Given the description of an element on the screen output the (x, y) to click on. 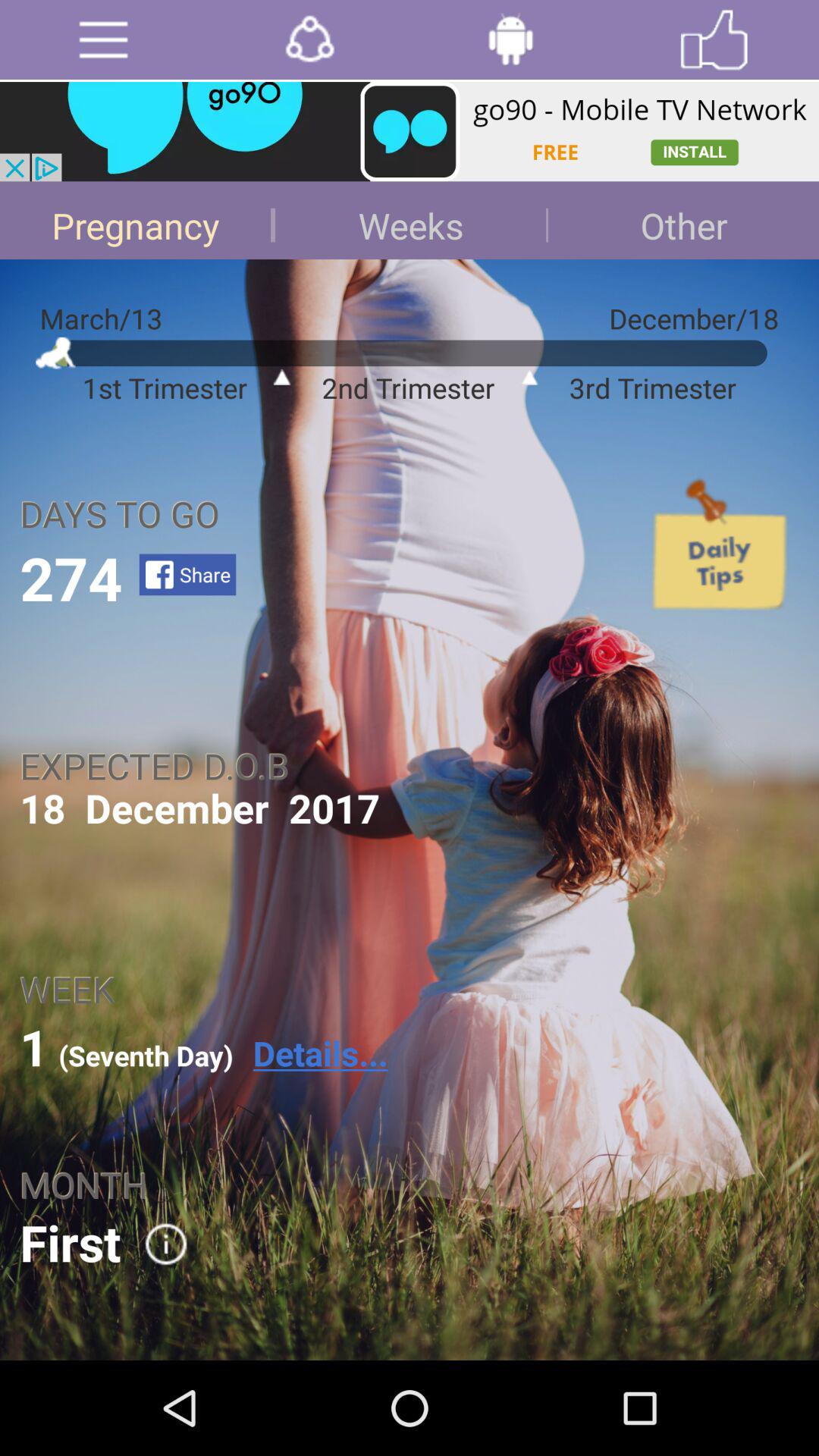
select the icon right to first (155, 1244)
select the text which is right to the text pregnancy (409, 219)
select the option which is after menu option (309, 39)
